Given the description of an element on the screen output the (x, y) to click on. 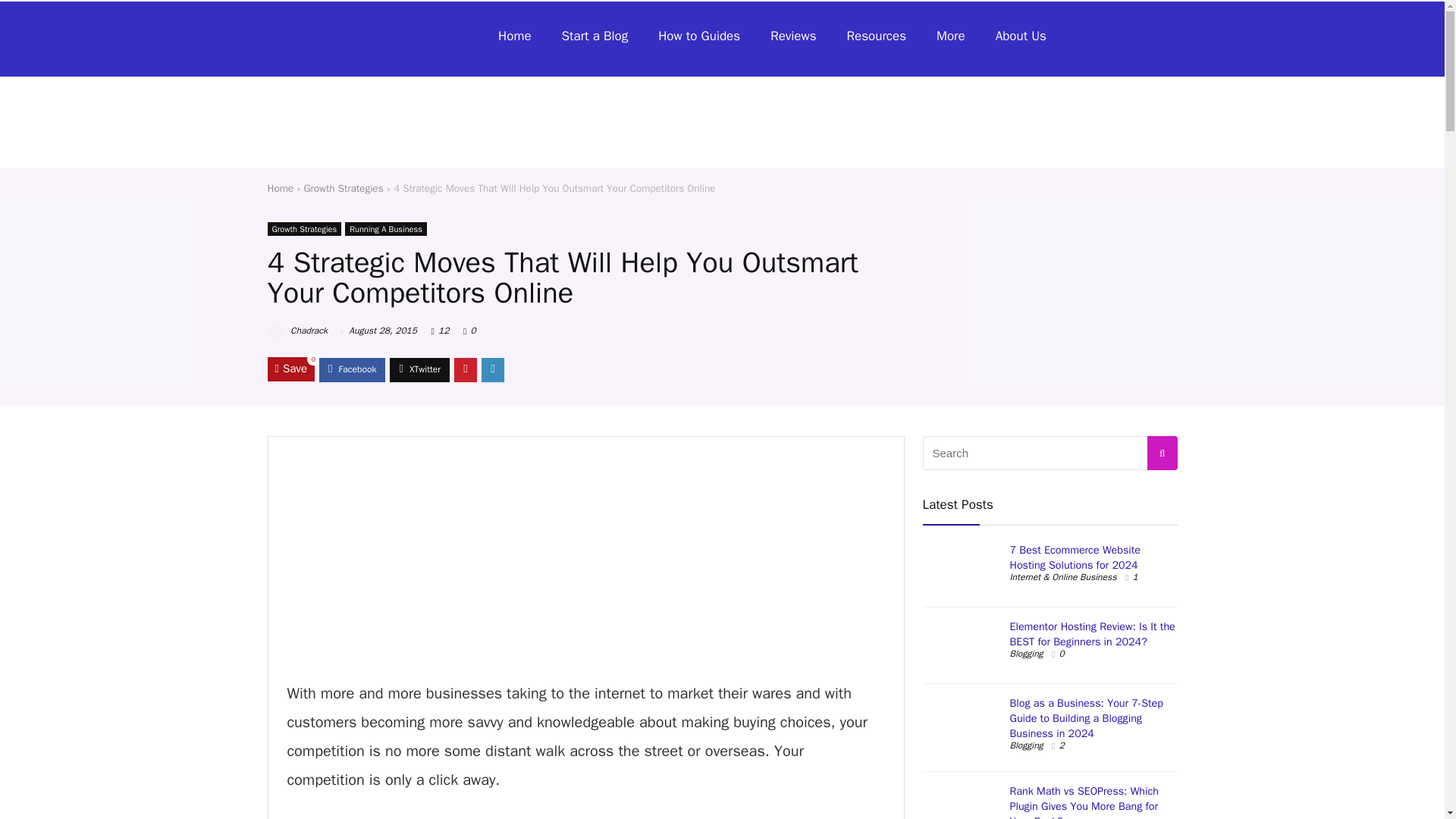
Home (280, 187)
View all posts in Running A Business (385, 228)
Advertisement (584, 561)
Running A Business (385, 228)
Growth Strategies (344, 187)
Resources (876, 36)
Chadrack (296, 330)
Start a Blog (595, 36)
Home (514, 36)
How to Guides (699, 36)
